Given the description of an element on the screen output the (x, y) to click on. 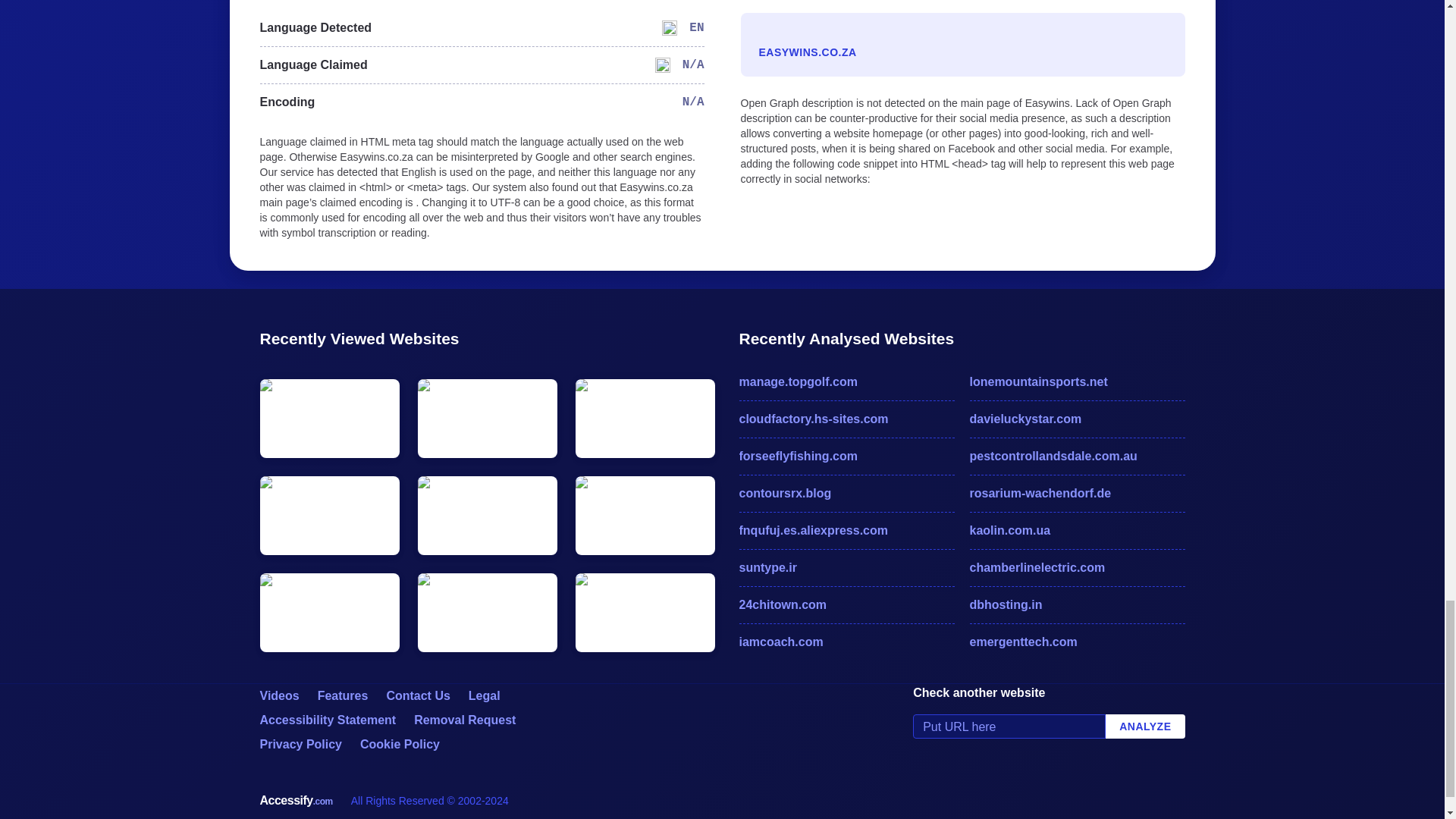
iamcoach.com (845, 642)
contoursrx.blog (845, 493)
manage.topgolf.com (845, 382)
Features (342, 695)
emergenttech.com (1077, 642)
davieluckystar.com (1077, 419)
suntype.ir (845, 567)
lonemountainsports.net (1077, 382)
kaolin.com.ua (1077, 530)
Contact Us (417, 695)
rosarium-wachendorf.de (1077, 493)
Screencasts: video tutorials and guides (278, 695)
chamberlinelectric.com (1077, 567)
Legal (484, 695)
24chitown.com (845, 605)
